Given the description of an element on the screen output the (x, y) to click on. 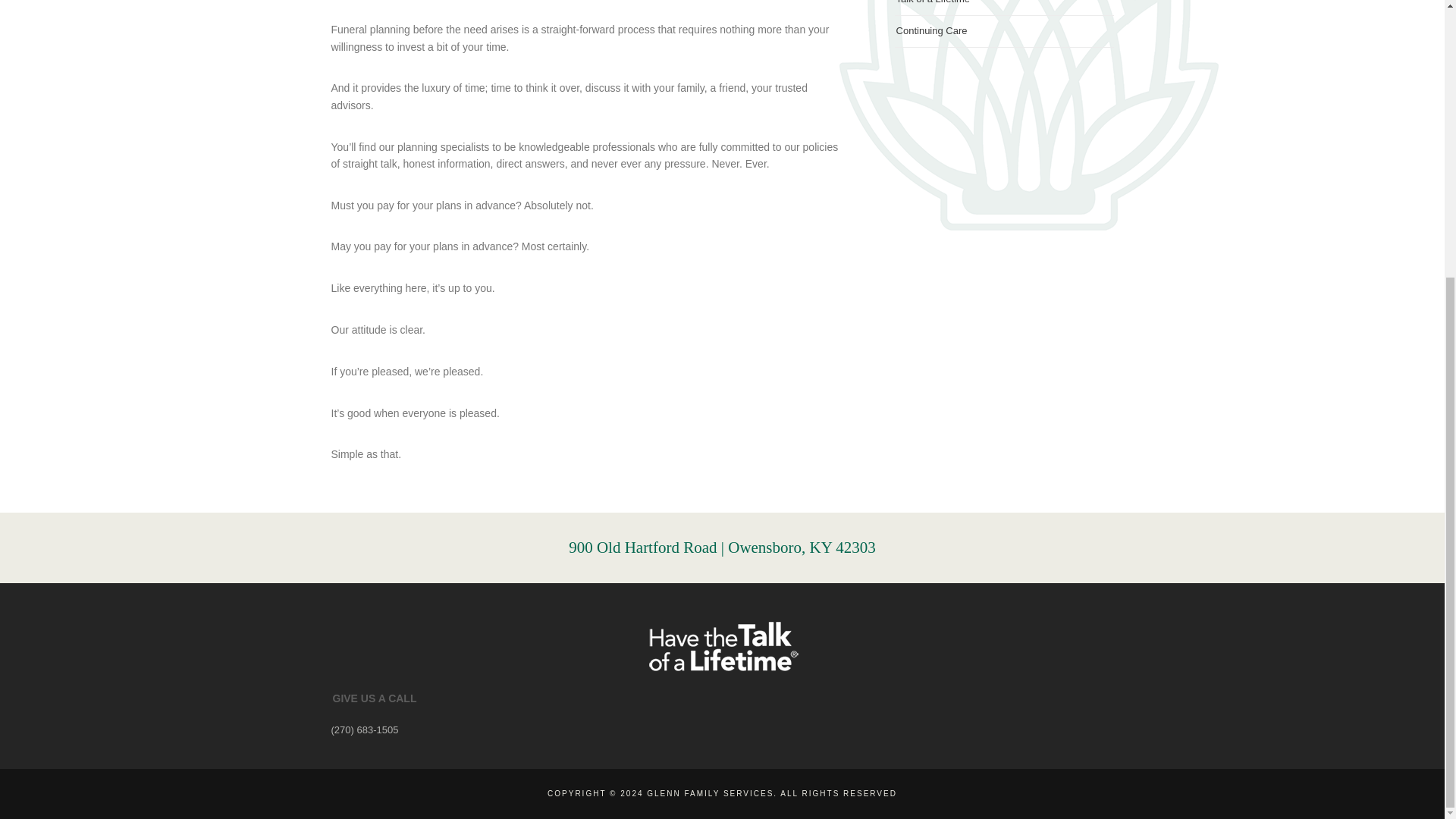
Talk of a Lifetime (933, 4)
Continuing Care (932, 30)
